Given the description of an element on the screen output the (x, y) to click on. 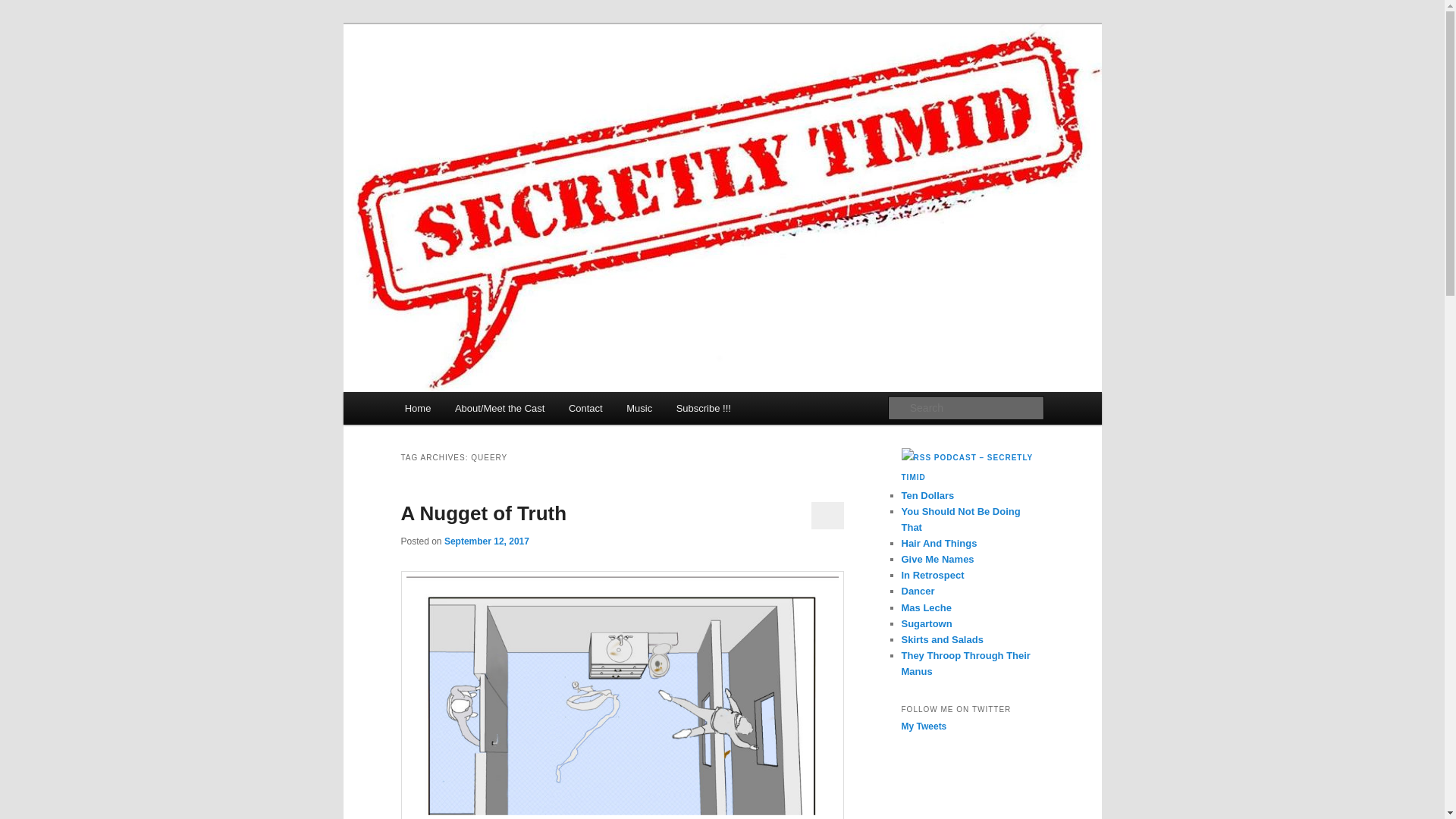
Contact (585, 408)
Home (417, 408)
Secretly Timid (478, 78)
Search (24, 8)
Music (638, 408)
Subscribe !!! (702, 408)
September 12, 2017 (486, 540)
9:26 am (486, 540)
A Nugget of Truth (483, 513)
